Given the description of an element on the screen output the (x, y) to click on. 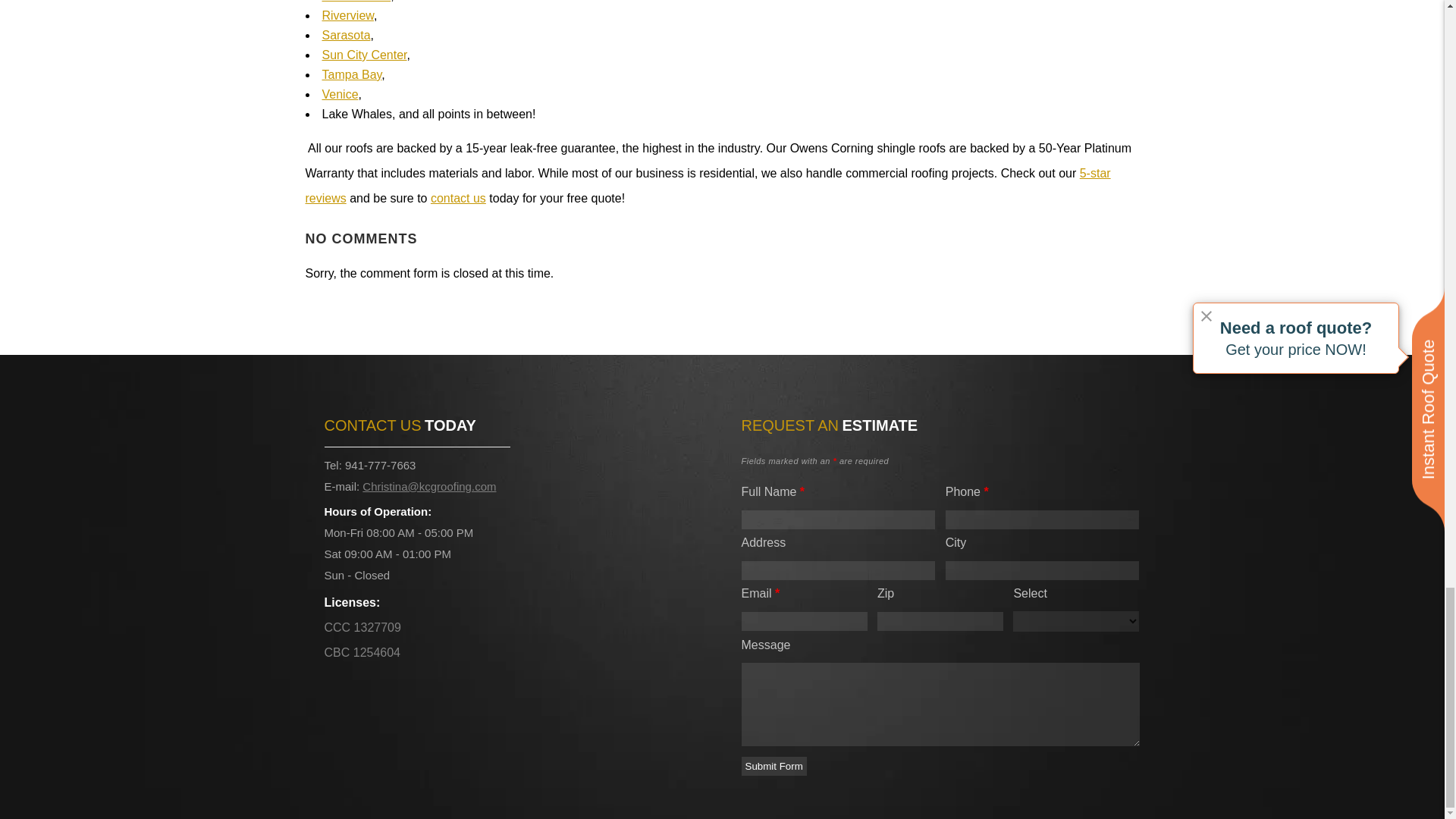
Submit Form (773, 765)
